Given the description of an element on the screen output the (x, y) to click on. 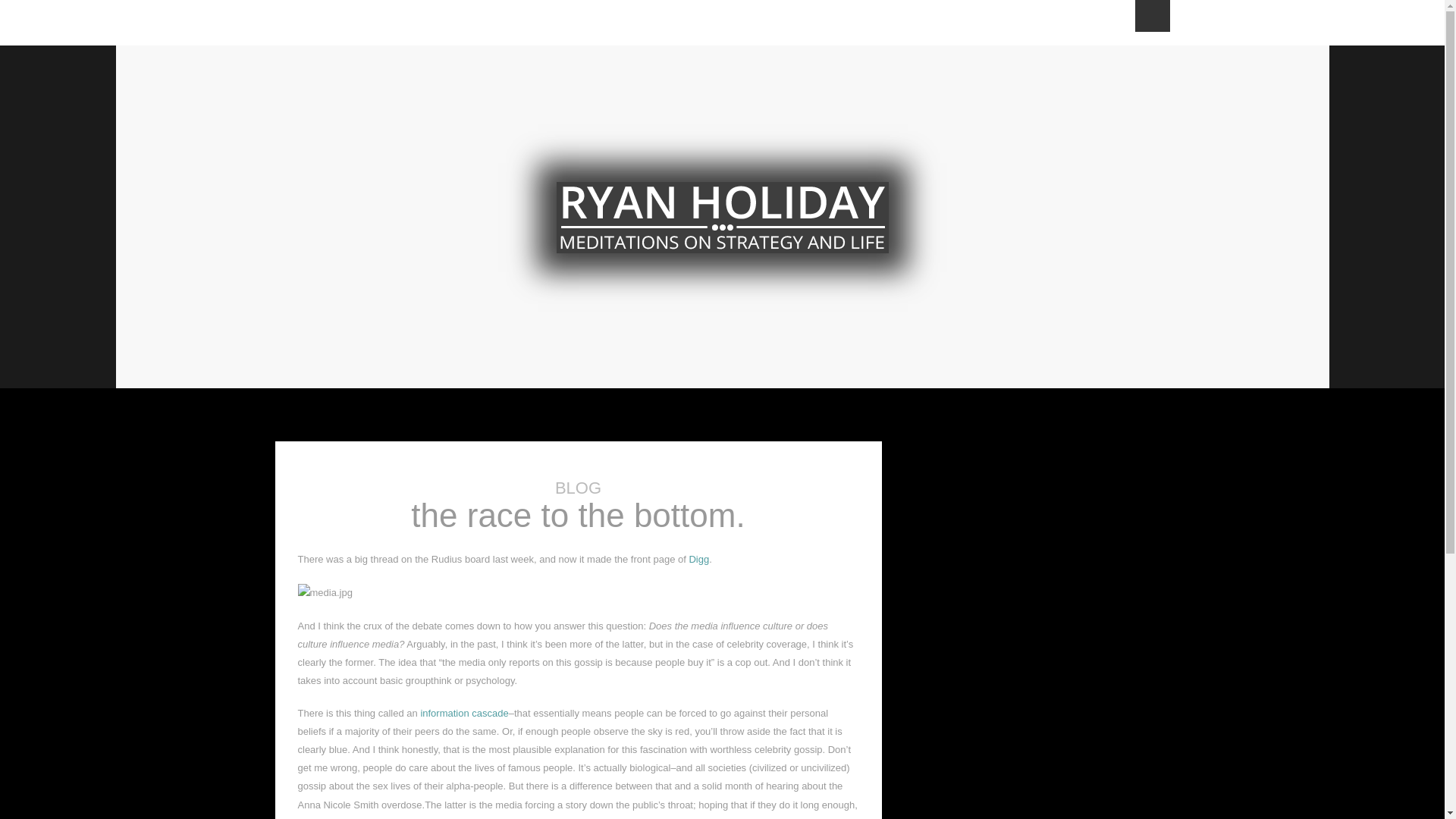
BOOKS AND COURSES (939, 22)
READING LIST (549, 22)
NEWSLETTER (443, 22)
payola (529, 818)
information cascade (464, 713)
HOME (298, 22)
BLOG (577, 487)
ABOUT (356, 22)
CONTACT (1056, 22)
BEST ARTICLES (719, 22)
SPEAKING (819, 22)
Digg (698, 559)
BLOG (633, 22)
